Given the description of an element on the screen output the (x, y) to click on. 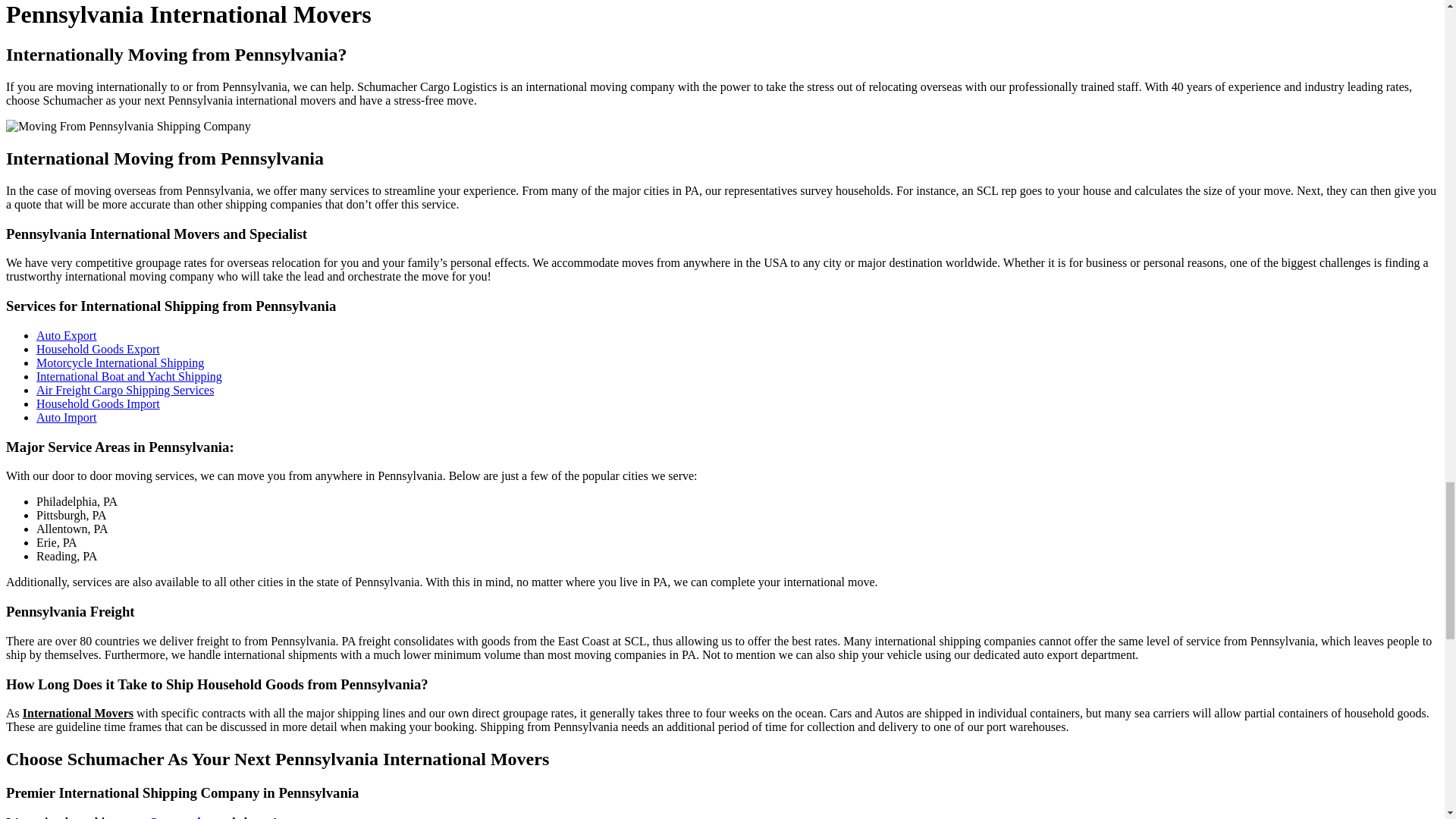
International Air Freight Cargo Shipping (125, 390)
International Motorcycle Shipping (119, 362)
International Auto Import (66, 417)
International Boat and Yacht Shipping (129, 376)
International Household Goods Import Services (98, 403)
Los Angeles International Household Goods Moving Services (98, 349)
International Car Shipping Services (66, 335)
